Given the description of an element on the screen output the (x, y) to click on. 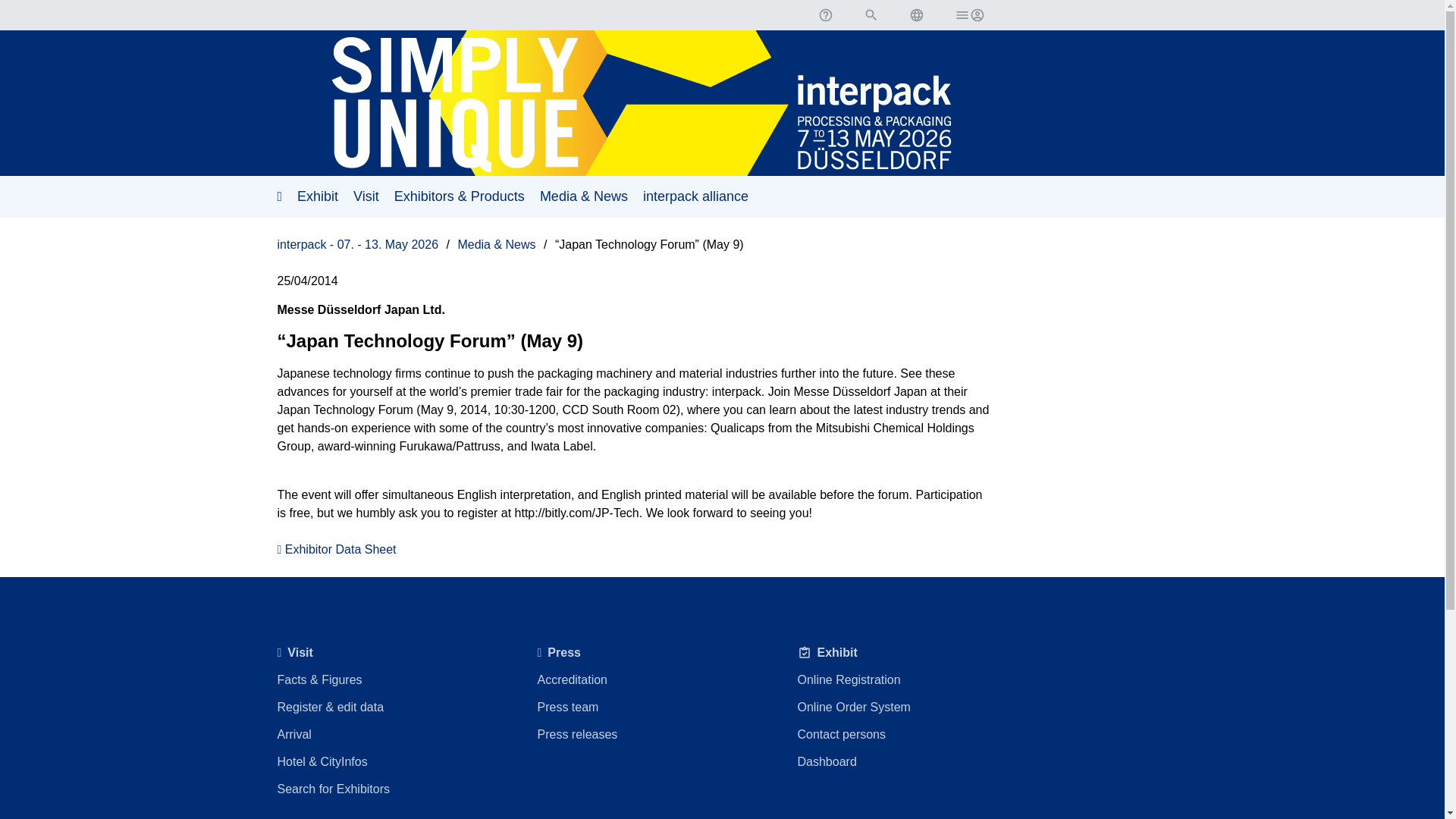
Search (870, 14)
ENGLISH (915, 14)
Support (824, 14)
Login (968, 14)
